Given the description of an element on the screen output the (x, y) to click on. 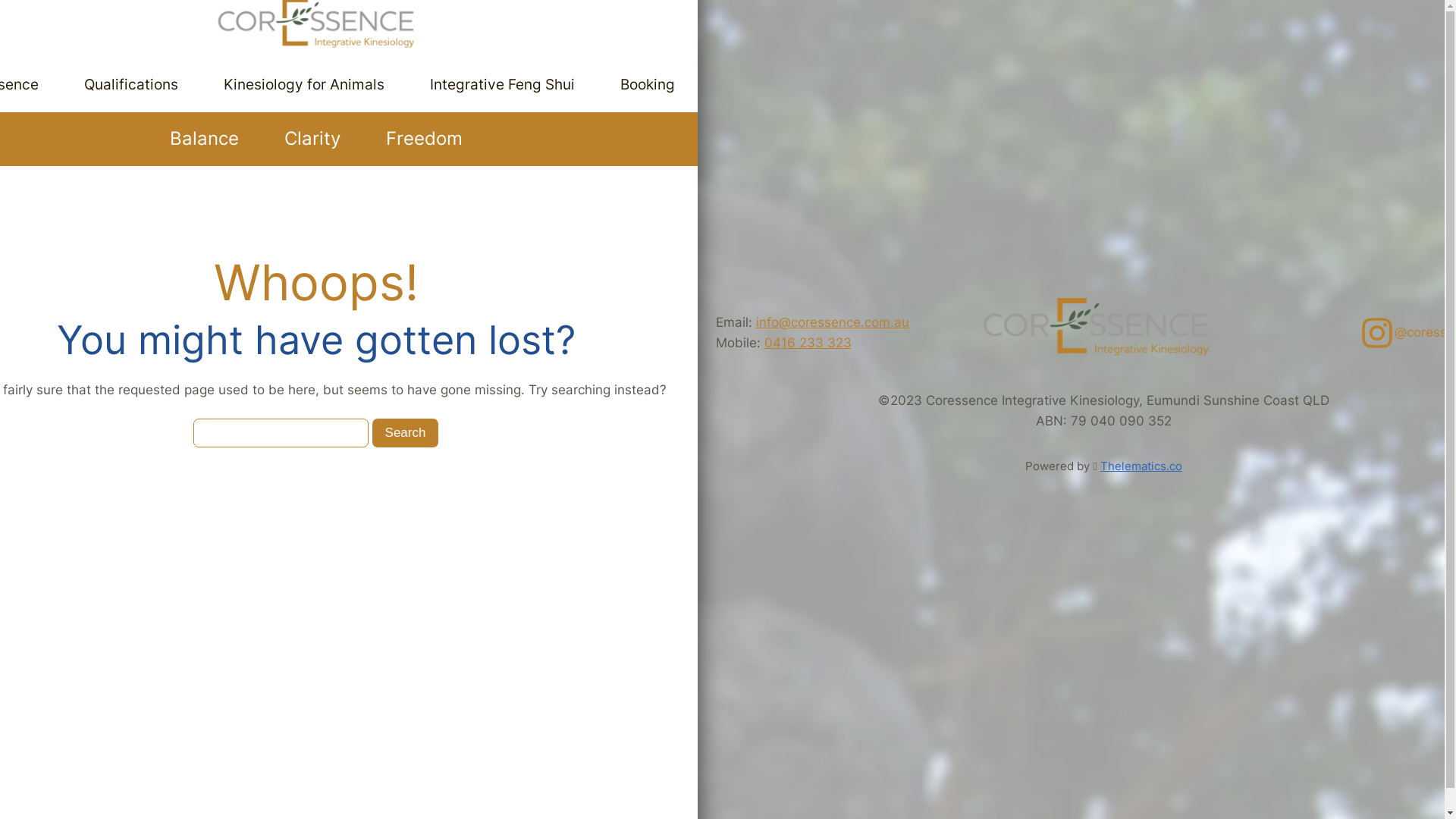
Kinesiology for Animals Element type: text (303, 85)
Search Element type: text (405, 433)
Thelematics.co Element type: text (1141, 465)
Booking Element type: text (647, 85)
info@coressence.com.au Element type: text (831, 321)
Qualifications Element type: text (130, 85)
Integrative Feng Shui Element type: text (501, 85)
0416 233 323 Element type: text (807, 342)
